Given the description of an element on the screen output the (x, y) to click on. 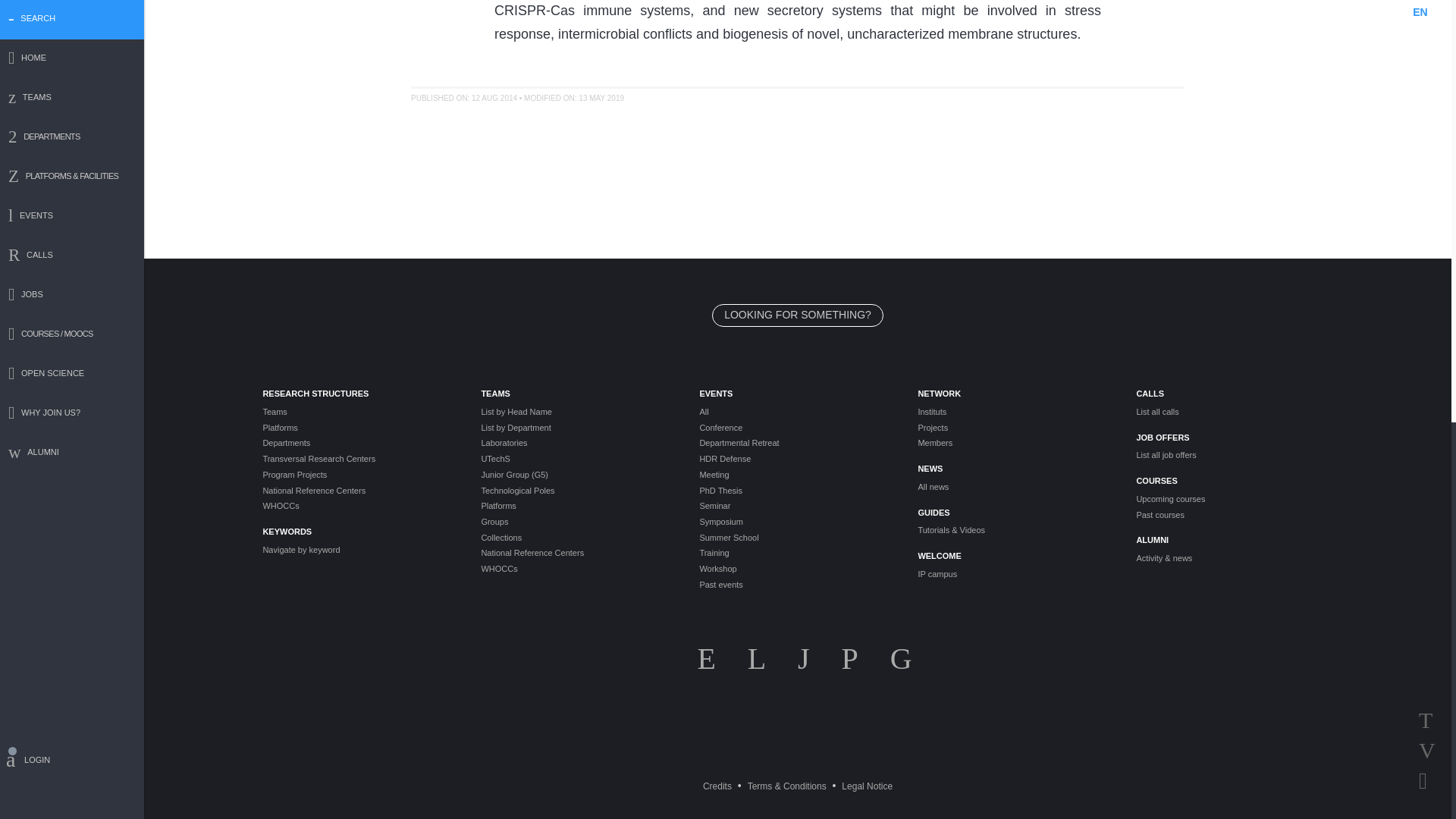
Teams (360, 411)
Platforms (360, 427)
